Given the description of an element on the screen output the (x, y) to click on. 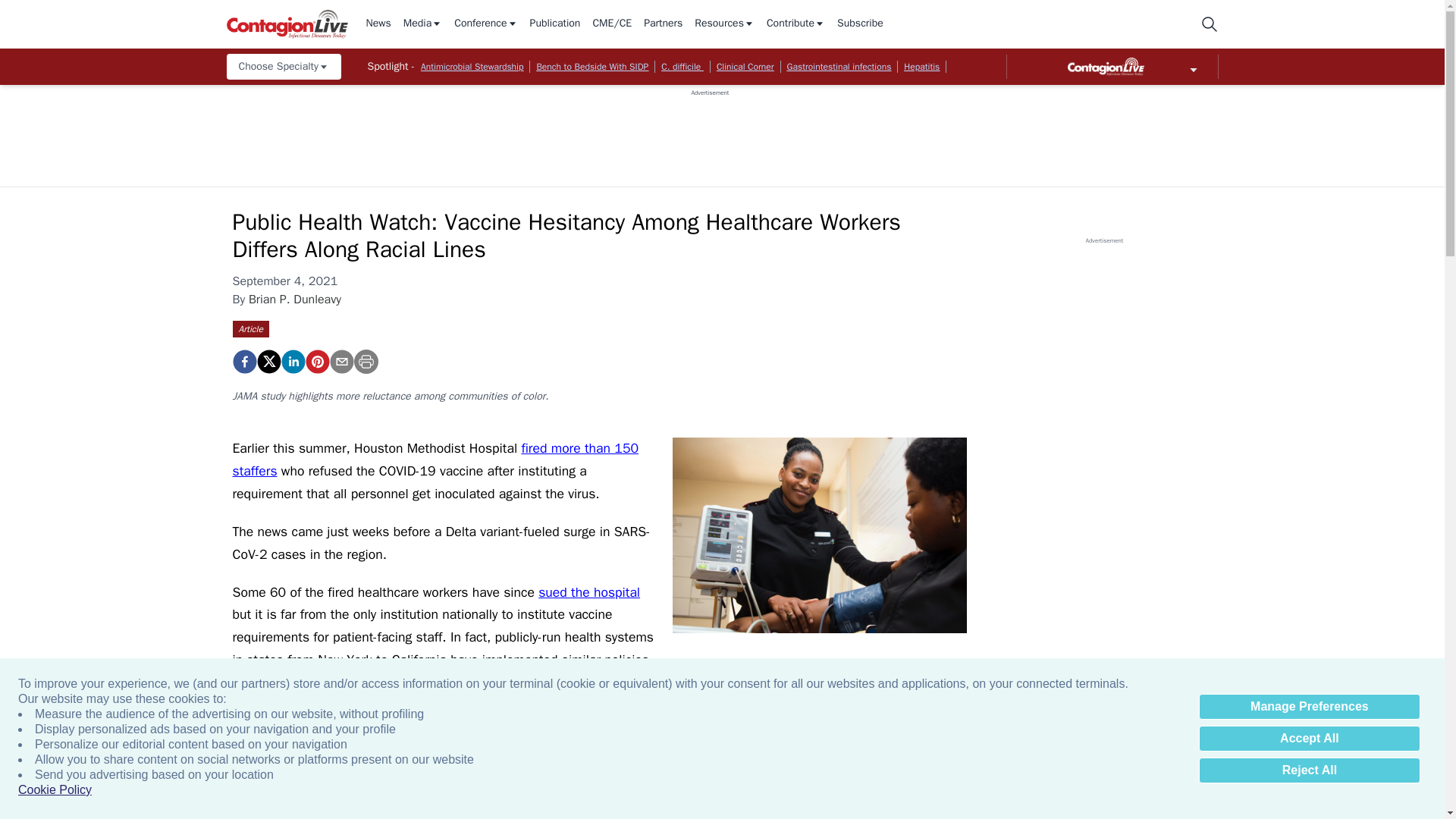
Choose Specialty (282, 66)
3rd party ad content (709, 131)
Resources (724, 23)
Conference (485, 23)
Manage Preferences (1309, 706)
Partners (662, 23)
Media (422, 23)
Contribute (796, 23)
Reject All (1309, 769)
Subscribe (860, 23)
Publication (554, 23)
Cookie Policy (54, 789)
Accept All (1309, 738)
News (377, 23)
